Given the description of an element on the screen output the (x, y) to click on. 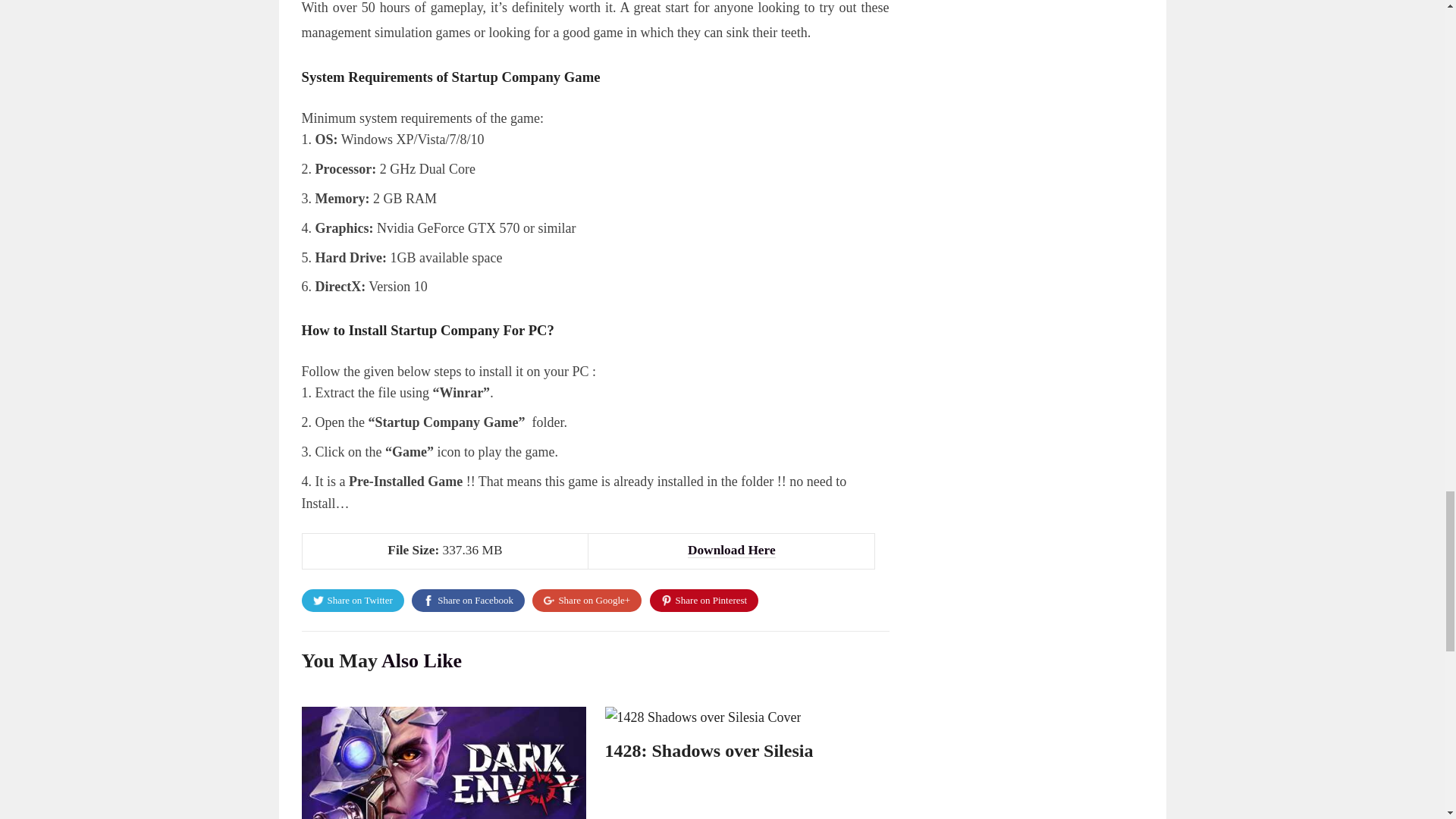
Share on Pinterest (698, 599)
Share on Facebook (468, 599)
Download Here (731, 549)
Share on Twitter (352, 599)
Dark Envoy (348, 750)
1428: Shadows over Silesia (709, 750)
